Given the description of an element on the screen output the (x, y) to click on. 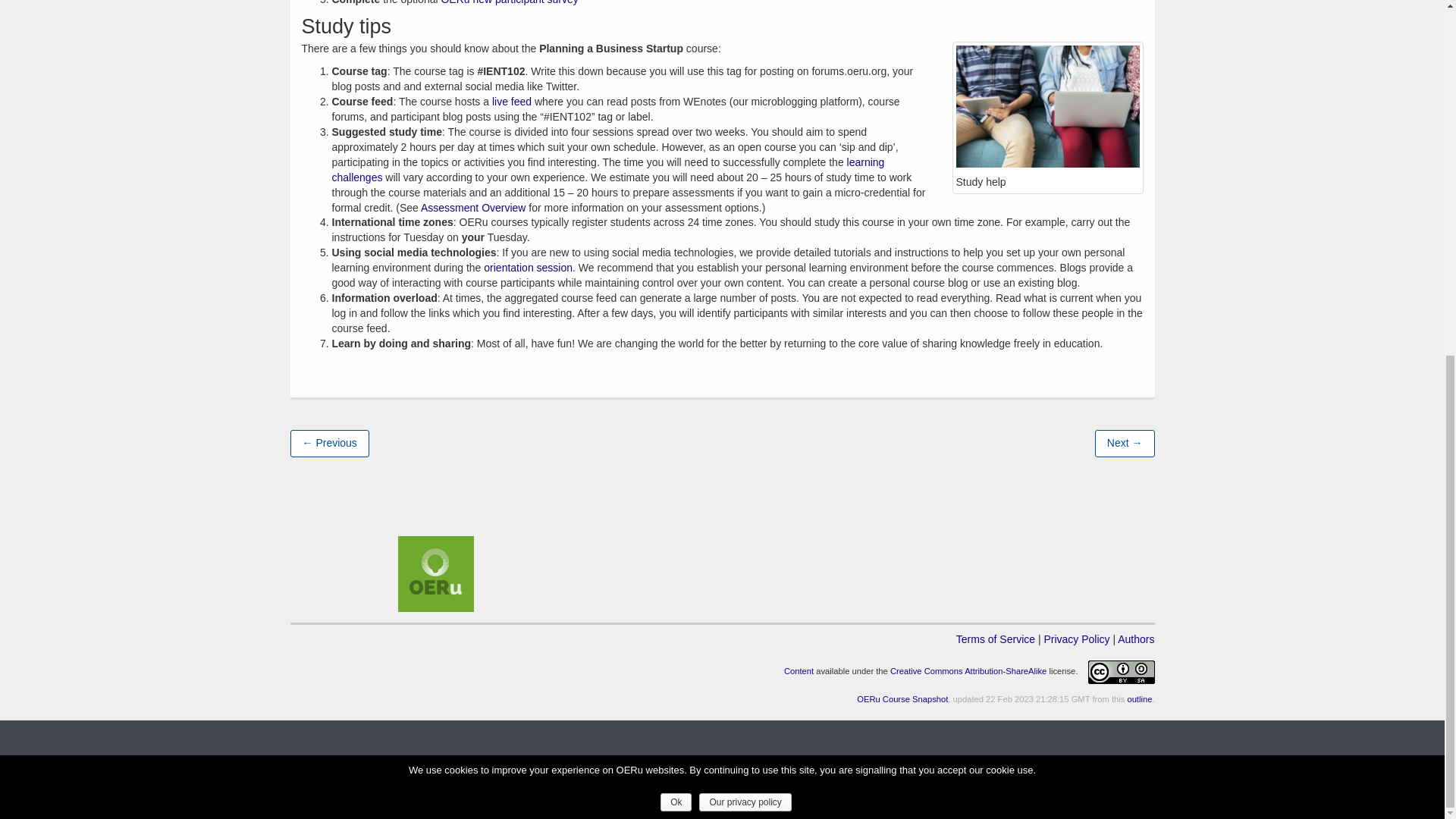
Created by OERu Course Snapshot version 1.6.0 (902, 698)
original content in WikiEducator (798, 671)
institution logo (436, 573)
OERu new participant survey (509, 2)
CC-BY-SA 4.0 International (967, 671)
learning challenges (608, 169)
live feed (511, 101)
